Given the description of an element on the screen output the (x, y) to click on. 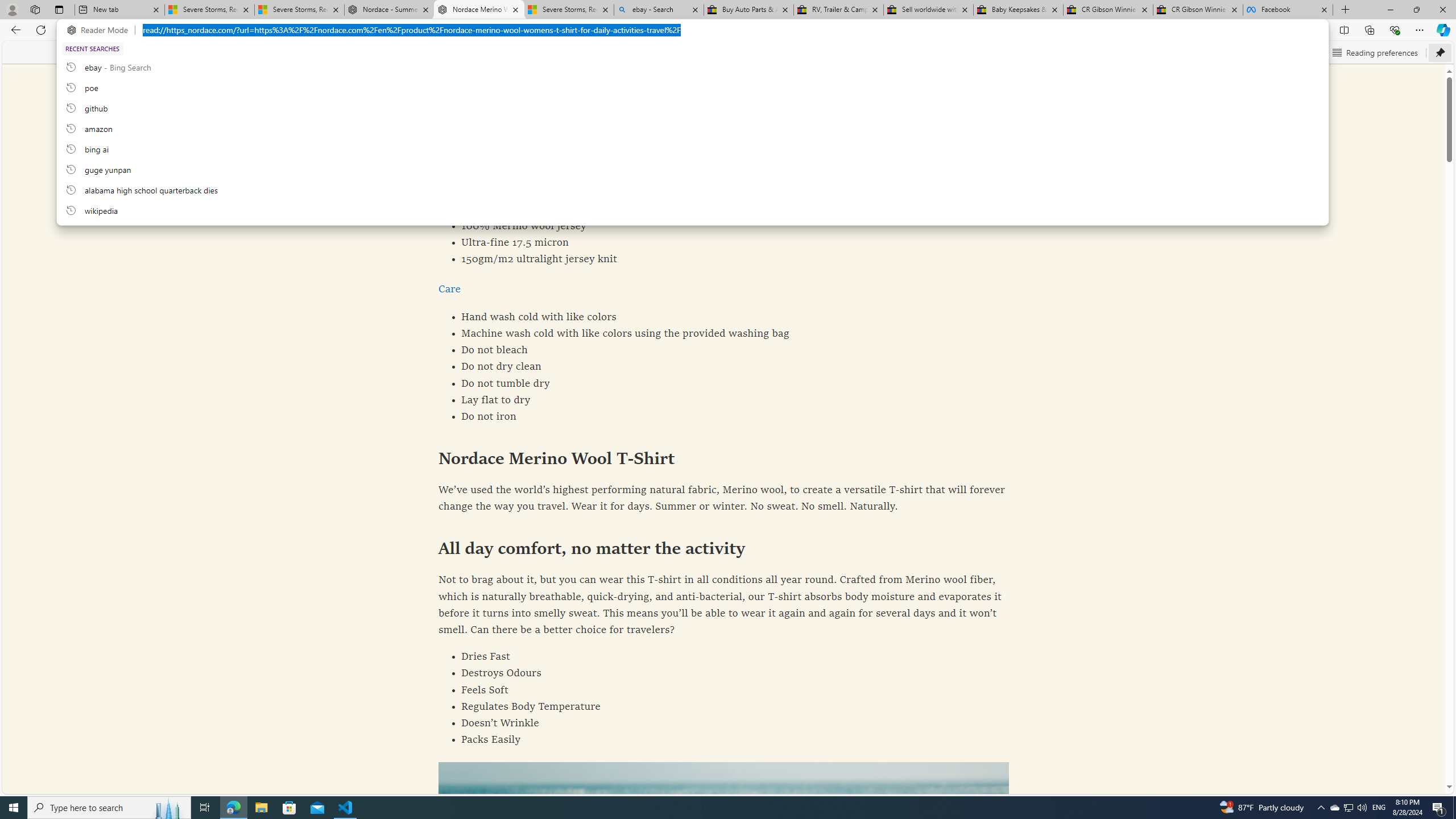
Buy Auto Parts & Accessories | eBay (747, 9)
Dries Fast (724, 656)
Reader Mode (100, 29)
Fabric (453, 170)
Do not dry clean (724, 366)
Regulates Body Temperature (724, 706)
Feels Soft (724, 690)
wikipedia, recent searches from history (691, 209)
